Given the description of an element on the screen output the (x, y) to click on. 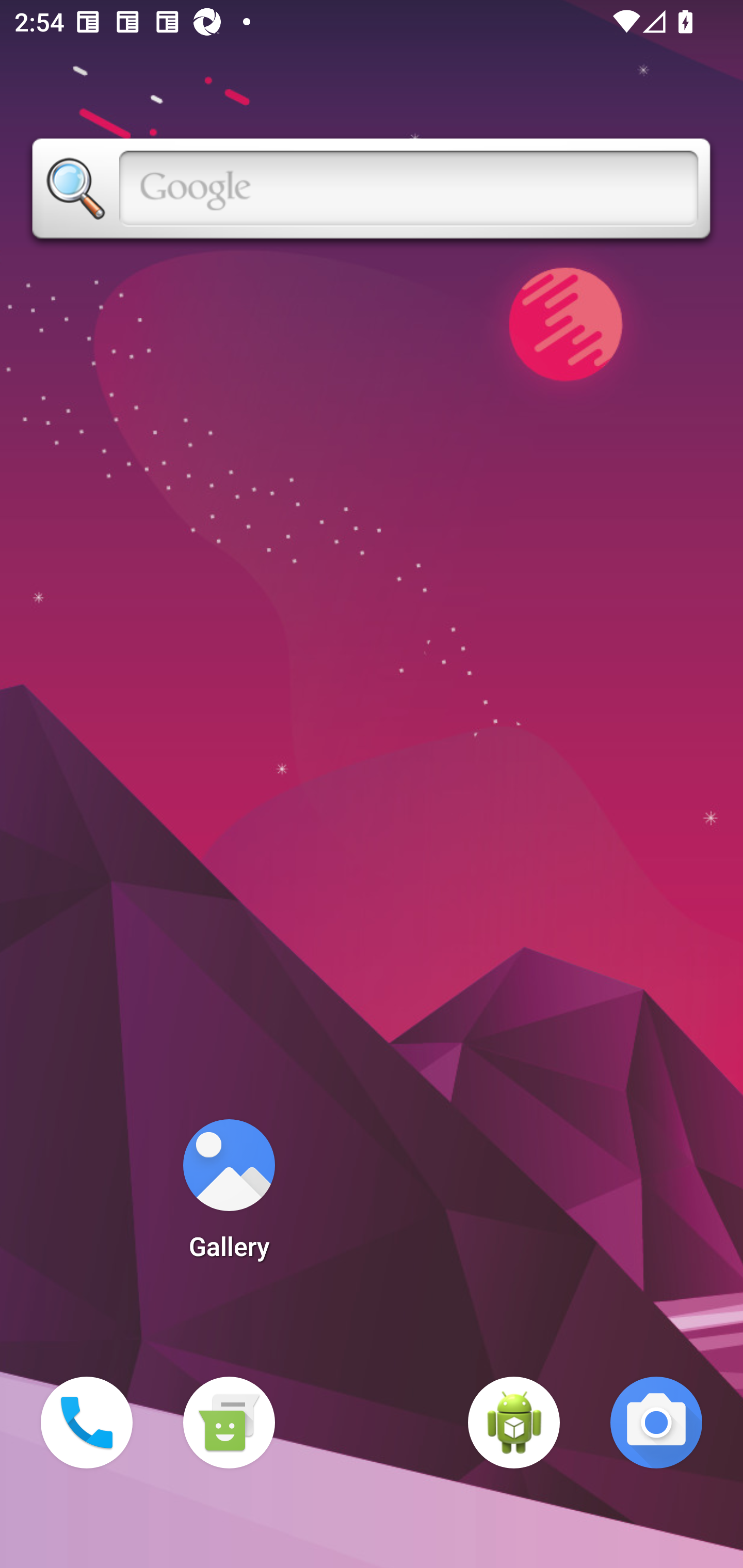
Gallery (228, 1195)
Phone (86, 1422)
Messaging (228, 1422)
WebView Browser Tester (513, 1422)
Camera (656, 1422)
